Given the description of an element on the screen output the (x, y) to click on. 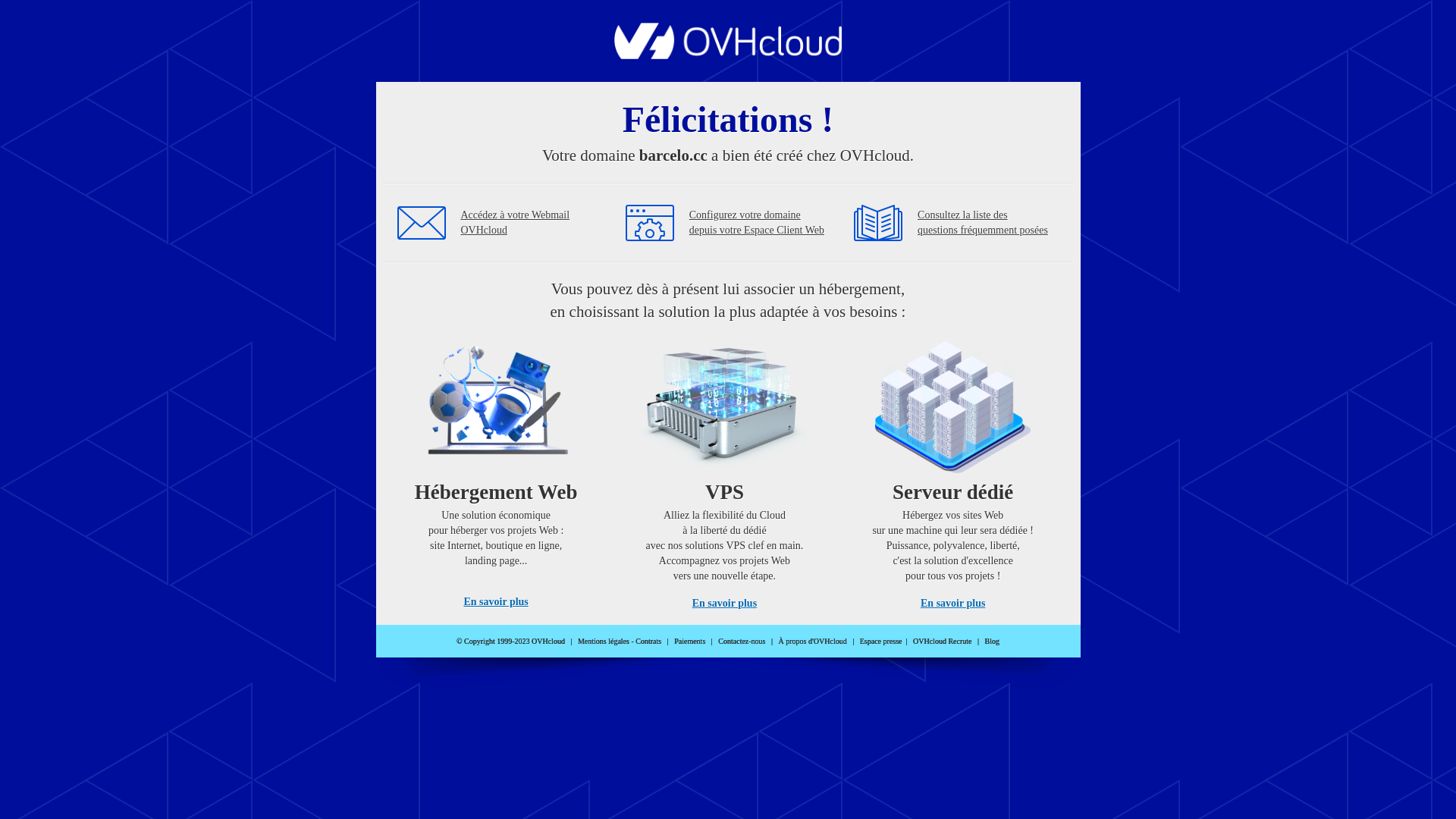
Contactez-nous Element type: text (741, 641)
OVHcloud Element type: hover (727, 54)
En savoir plus Element type: text (724, 602)
En savoir plus Element type: text (952, 602)
VPS Element type: hover (724, 469)
OVHcloud Recrute Element type: text (942, 641)
Espace presse Element type: text (880, 641)
Paiements Element type: text (689, 641)
En savoir plus Element type: text (495, 601)
Blog Element type: text (992, 641)
Configurez votre domaine
depuis votre Espace Client Web Element type: text (756, 222)
